Given the description of an element on the screen output the (x, y) to click on. 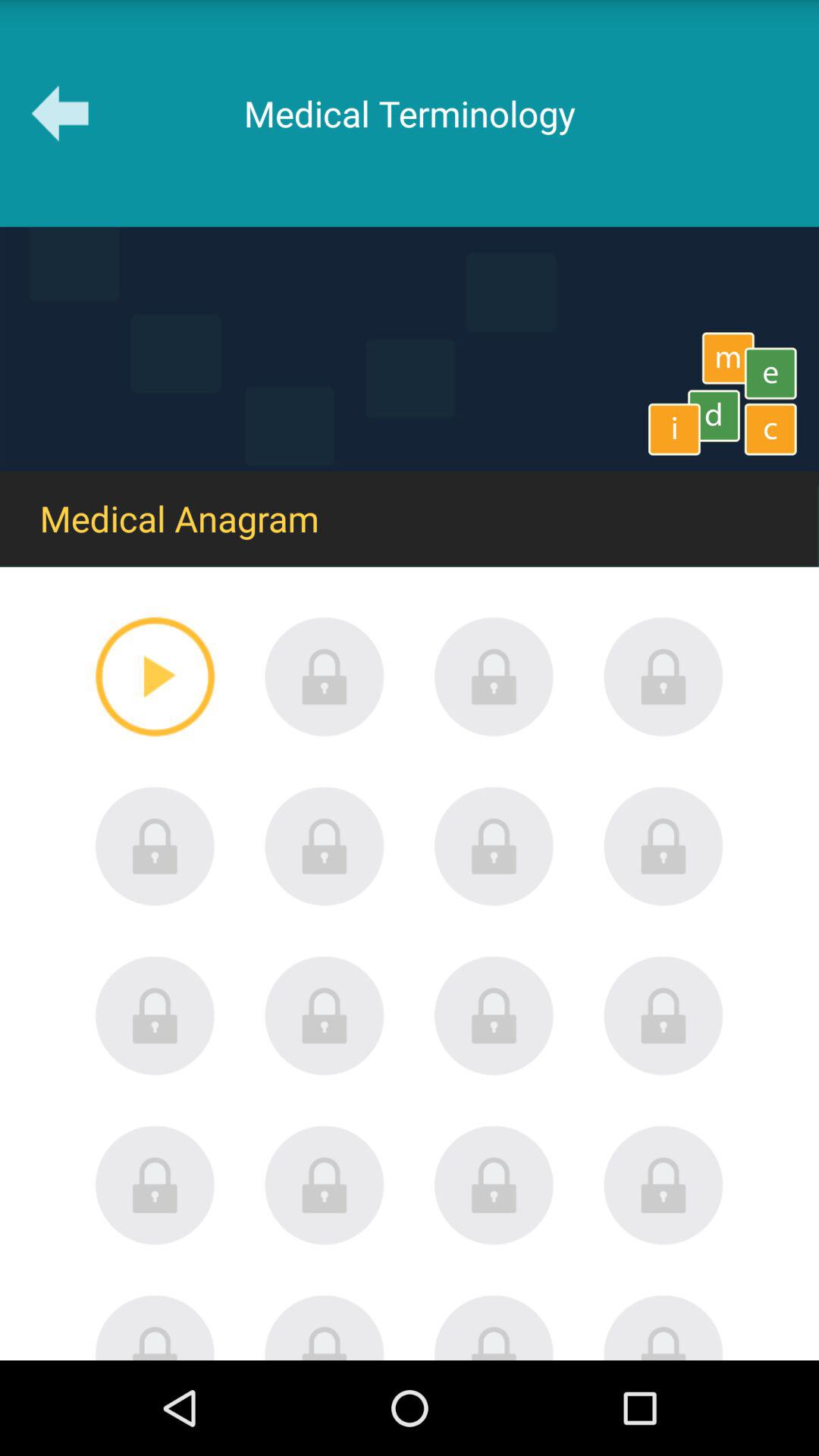
lock (493, 676)
